Given the description of an element on the screen output the (x, y) to click on. 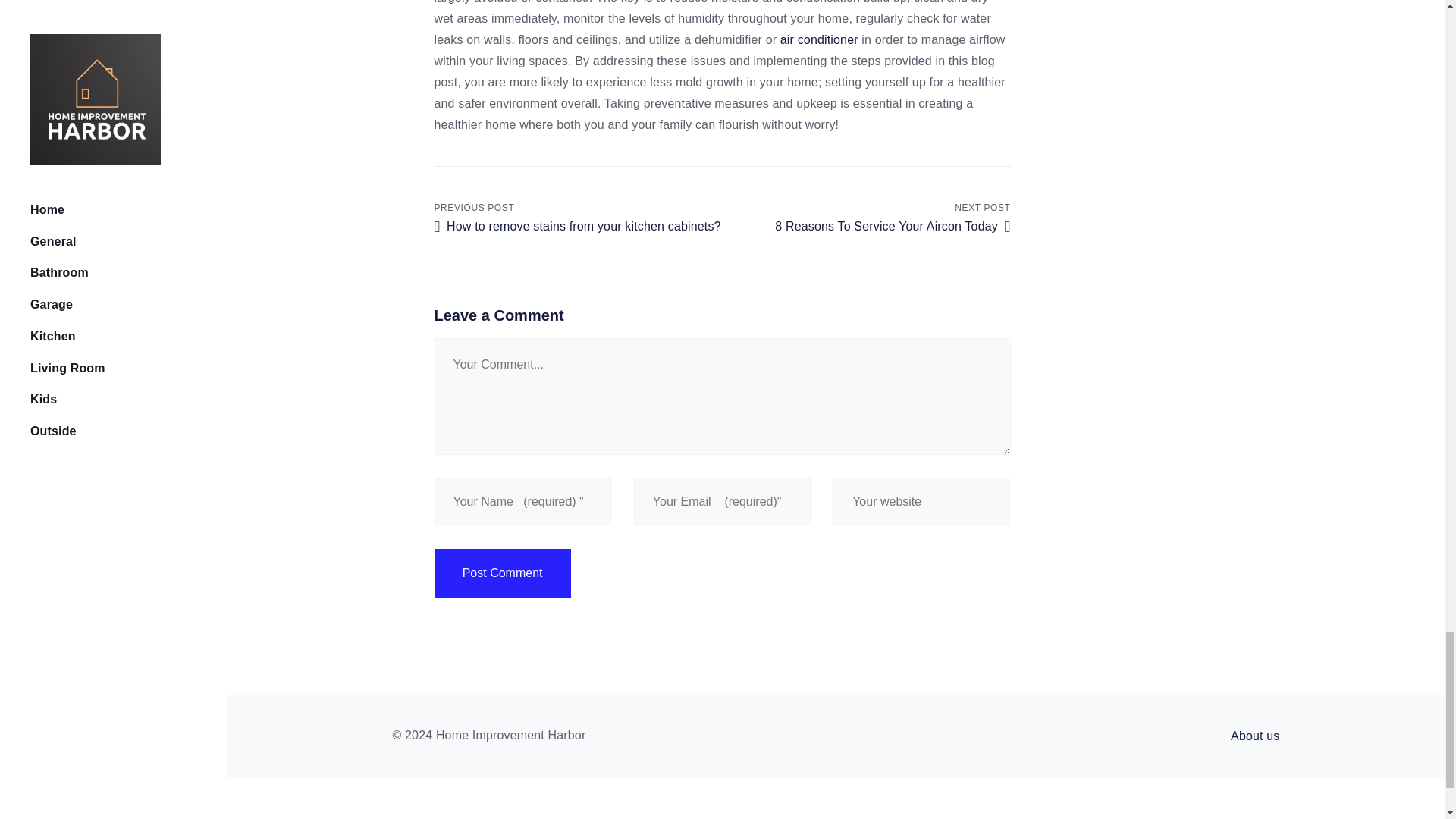
About us (1254, 735)
Post Comment (501, 572)
air conditioner (866, 215)
Post Comment (819, 39)
